Given the description of an element on the screen output the (x, y) to click on. 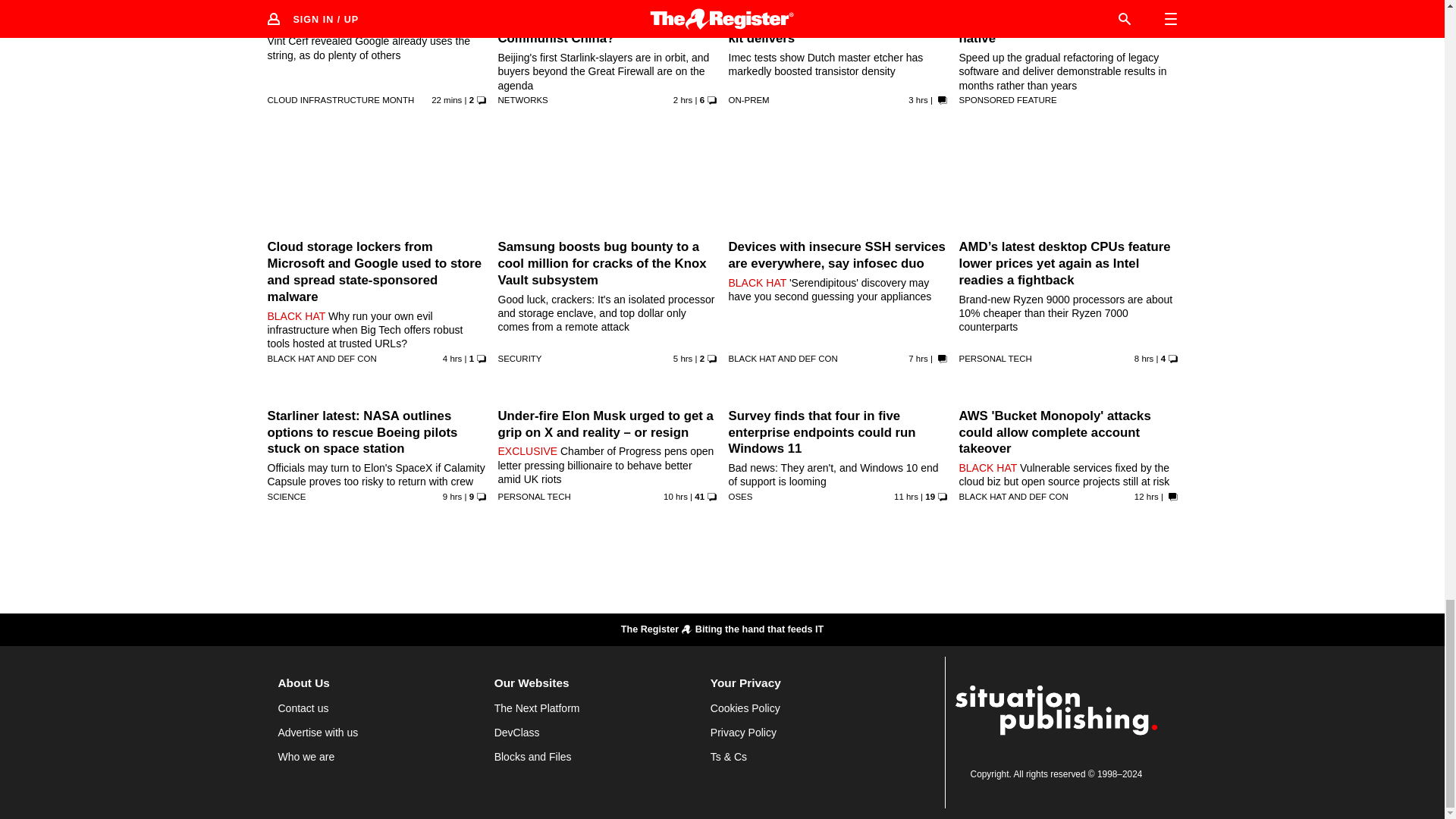
8 Aug 2024 1:15 (682, 358)
8 Aug 2024 3:15 (918, 99)
7 Aug 2024 20:18 (675, 496)
7 Aug 2024 18:5 (1146, 496)
8 Aug 2024 1:58 (452, 358)
7 Aug 2024 21:22 (452, 496)
7 Aug 2024 21:58 (1144, 358)
8 Aug 2024 3:58 (682, 99)
8 Aug 2024 5:42 (445, 99)
7 Aug 2024 23:0 (918, 358)
